Given the description of an element on the screen output the (x, y) to click on. 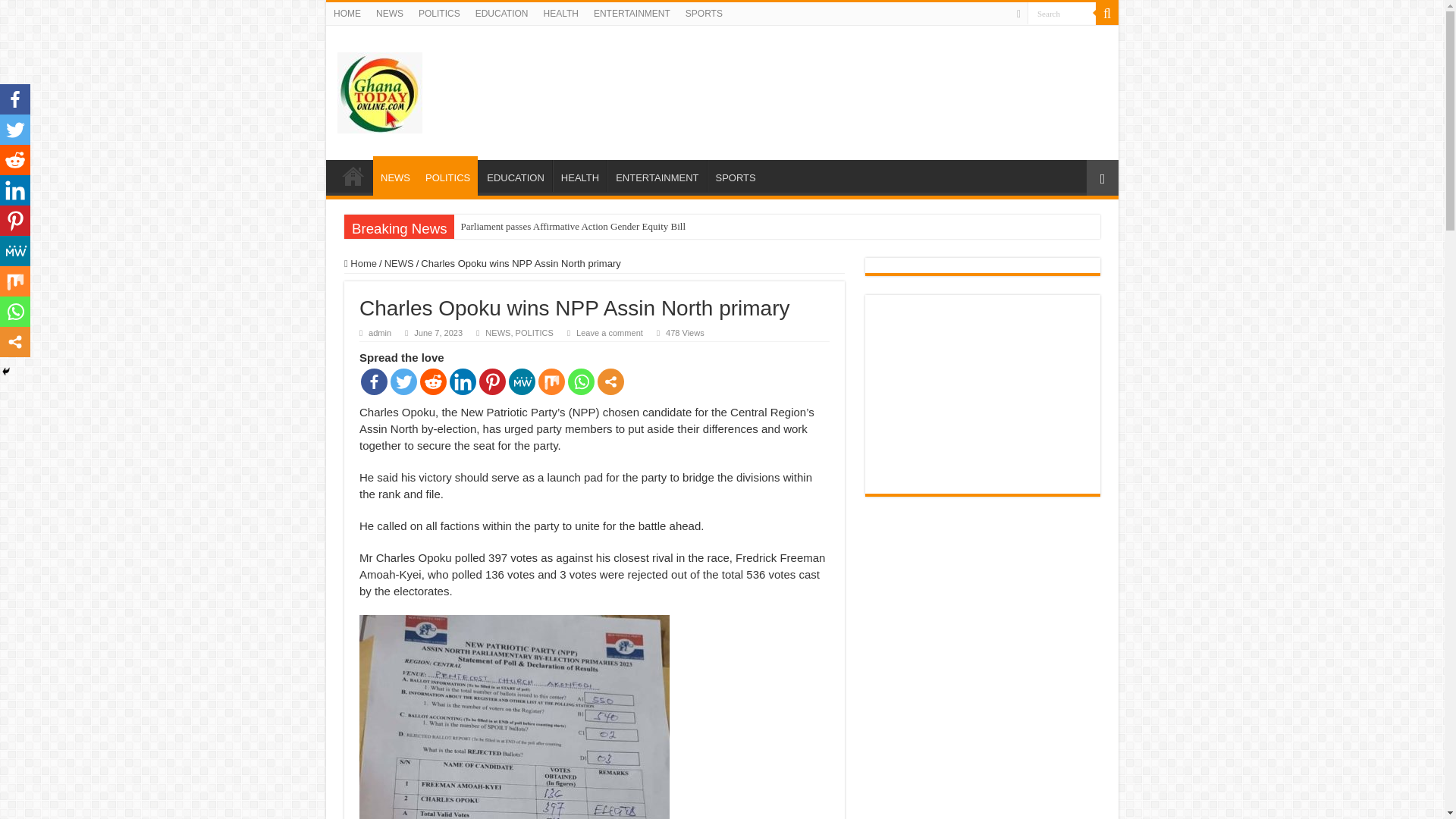
Ghanatodayonline.com (379, 90)
HOME (347, 13)
POLITICS (447, 175)
ENTERTAINMENT (656, 175)
SPORTS (734, 175)
ENTERTAINMENT (632, 13)
SPORTS (704, 13)
Search (1107, 13)
Parliament passes Affirmative Action Gender Equity Bill (572, 226)
NEWS (394, 175)
HEALTH (560, 13)
Home (360, 263)
EDUCATION (501, 13)
POLITICS (438, 13)
EDUCATION (515, 175)
